Given the description of an element on the screen output the (x, y) to click on. 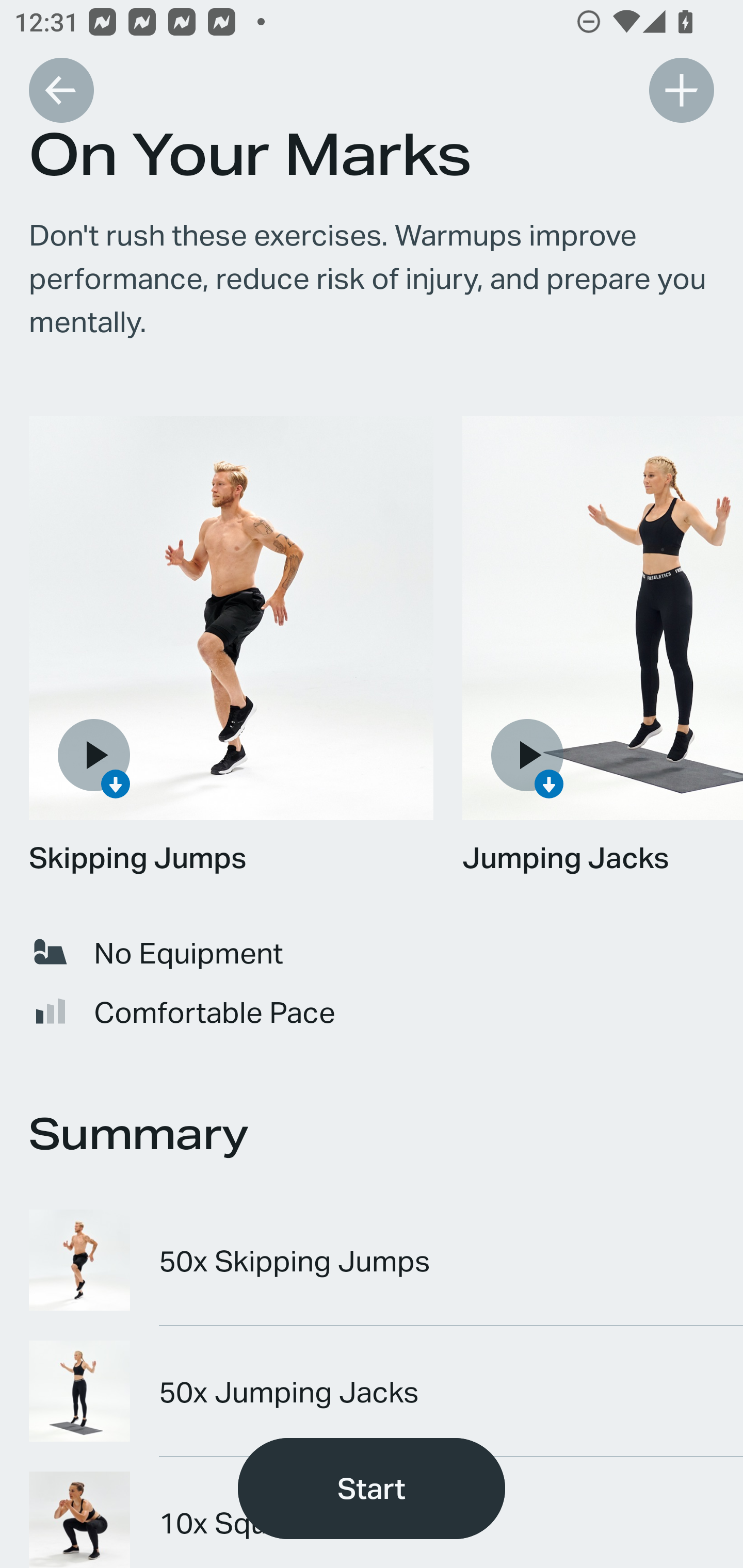
Go back (60, 90)
Log (681, 90)
Start (371, 1488)
